Given the description of an element on the screen output the (x, y) to click on. 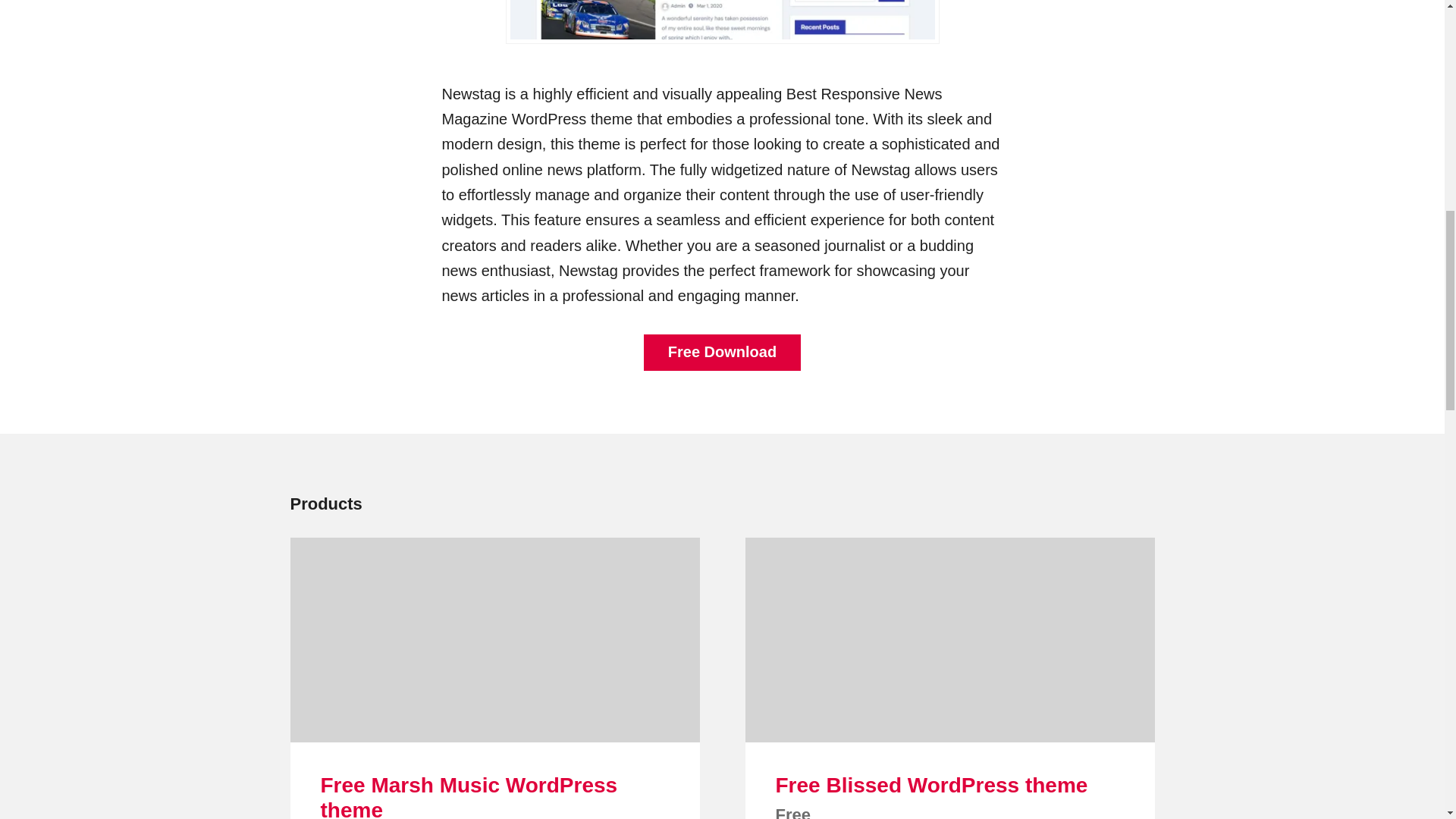
Free Marsh Music WordPress theme (468, 796)
Continue reading Free Marsh Music WordPress theme (493, 639)
Free Blissed WordPress theme (930, 784)
Free Download (721, 352)
Continue reading Free Blissed WordPress theme (949, 639)
